Given the description of an element on the screen output the (x, y) to click on. 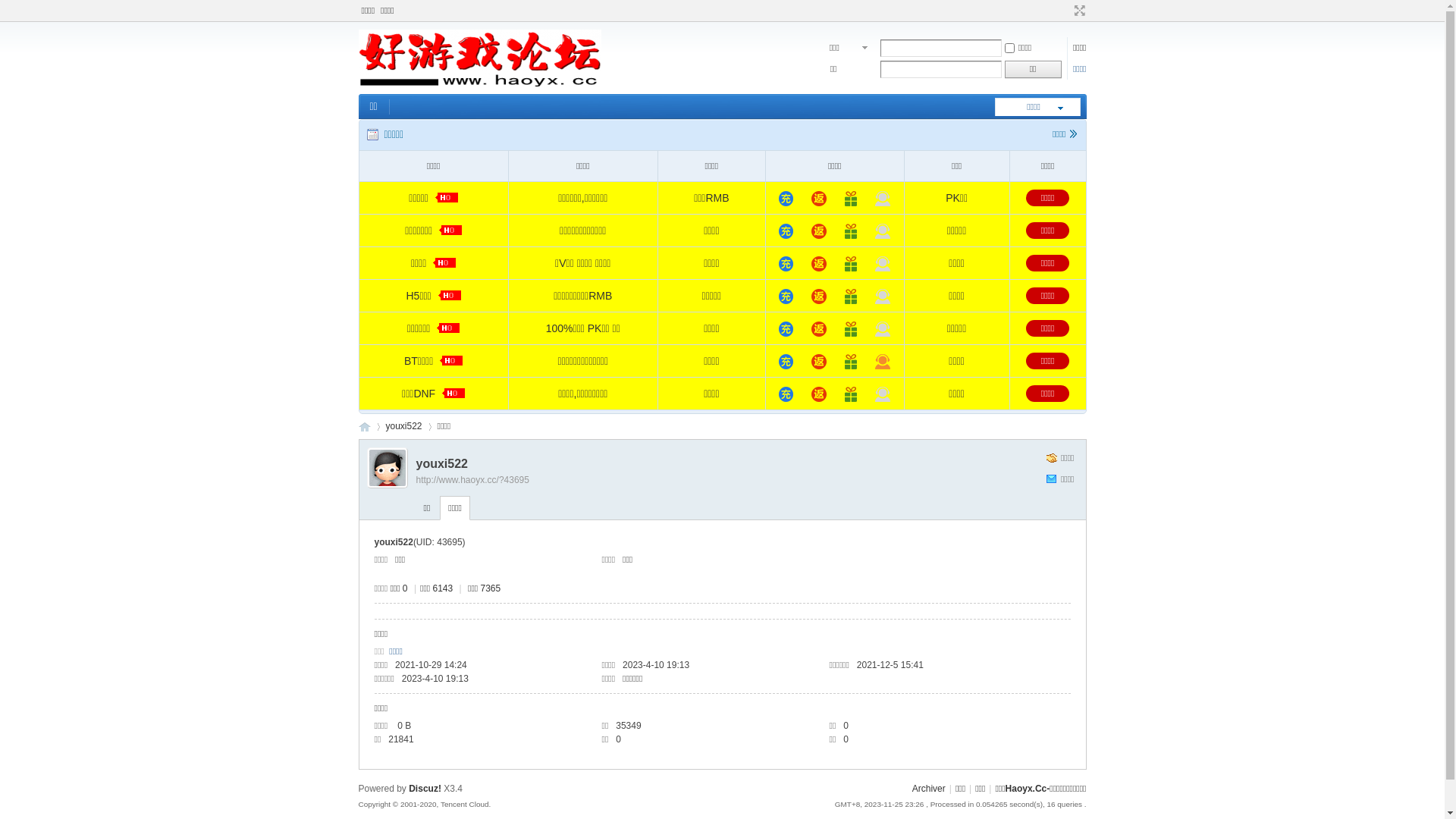
http://www.haoyx.cc/?43695 Element type: text (471, 479)
85877770  Element type: hover (882, 361)
@  Element type: hover (785, 296)
0  Element type: hover (882, 198)
@  Element type: hover (850, 230)
Archiver Element type: text (928, 788)
@  Element type: hover (785, 263)
0  Element type: hover (882, 328)
@  Element type: hover (850, 361)
@ Element type: hover (818, 230)
@ Element type: hover (818, 198)
@ Element type: hover (818, 361)
Discuz! Element type: text (424, 788)
@ Element type: hover (818, 296)
@ Element type: hover (818, 263)
@  Element type: hover (850, 198)
0  Element type: hover (882, 263)
@  Element type: hover (785, 328)
@ Element type: hover (818, 393)
@  Element type: hover (850, 393)
0  Element type: hover (882, 393)
@ Element type: hover (818, 328)
@  Element type: hover (850, 263)
@  Element type: hover (785, 230)
@  Element type: hover (785, 393)
@  Element type: hover (850, 296)
@  Element type: hover (850, 328)
@  Element type: hover (785, 361)
@  Element type: hover (785, 198)
0  Element type: hover (882, 296)
youxi522 Element type: text (403, 426)
0  Element type: hover (882, 230)
